Given the description of an element on the screen output the (x, y) to click on. 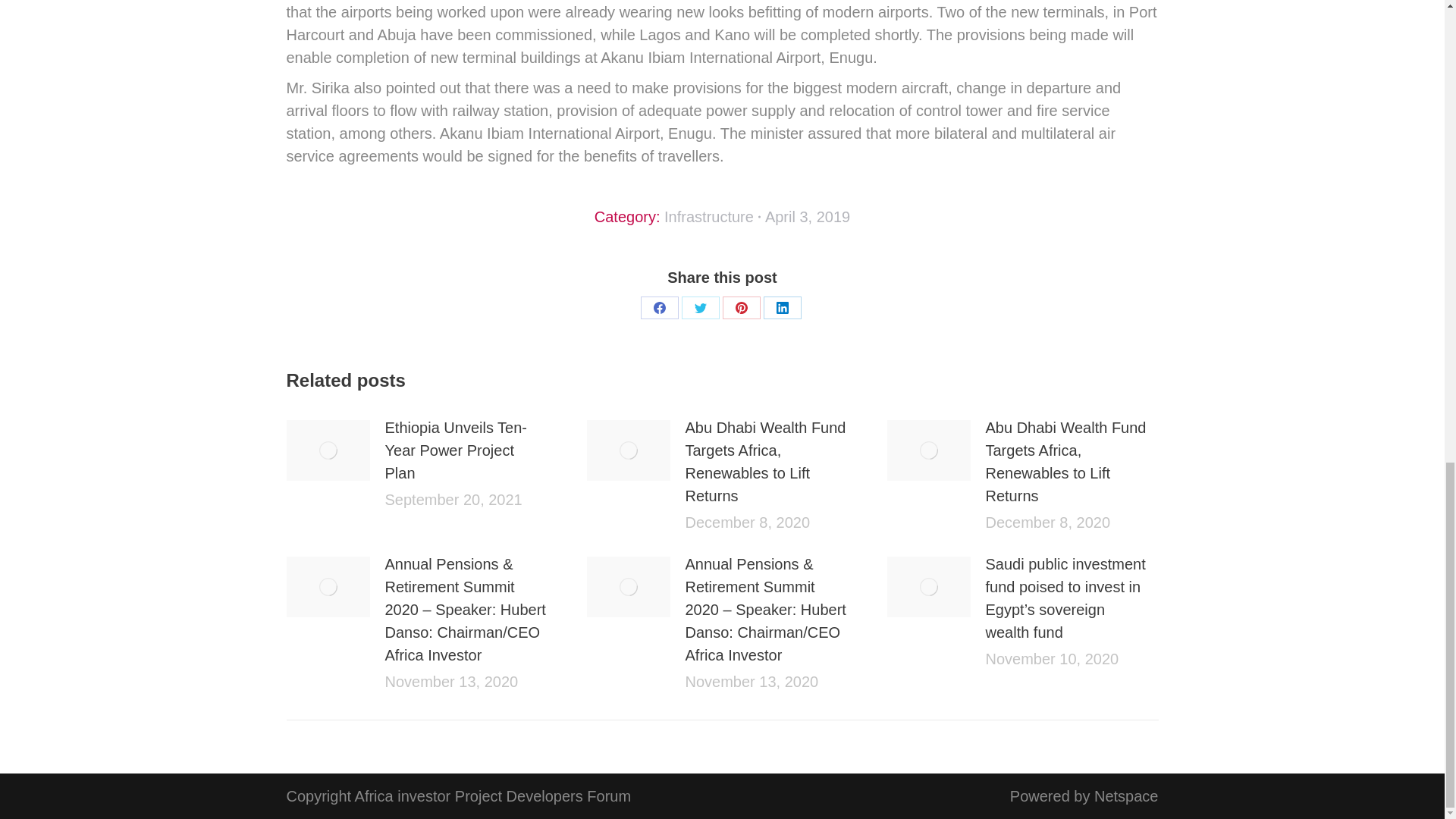
Twitter (700, 307)
9:12 am (807, 216)
Facebook (659, 307)
